Given the description of an element on the screen output the (x, y) to click on. 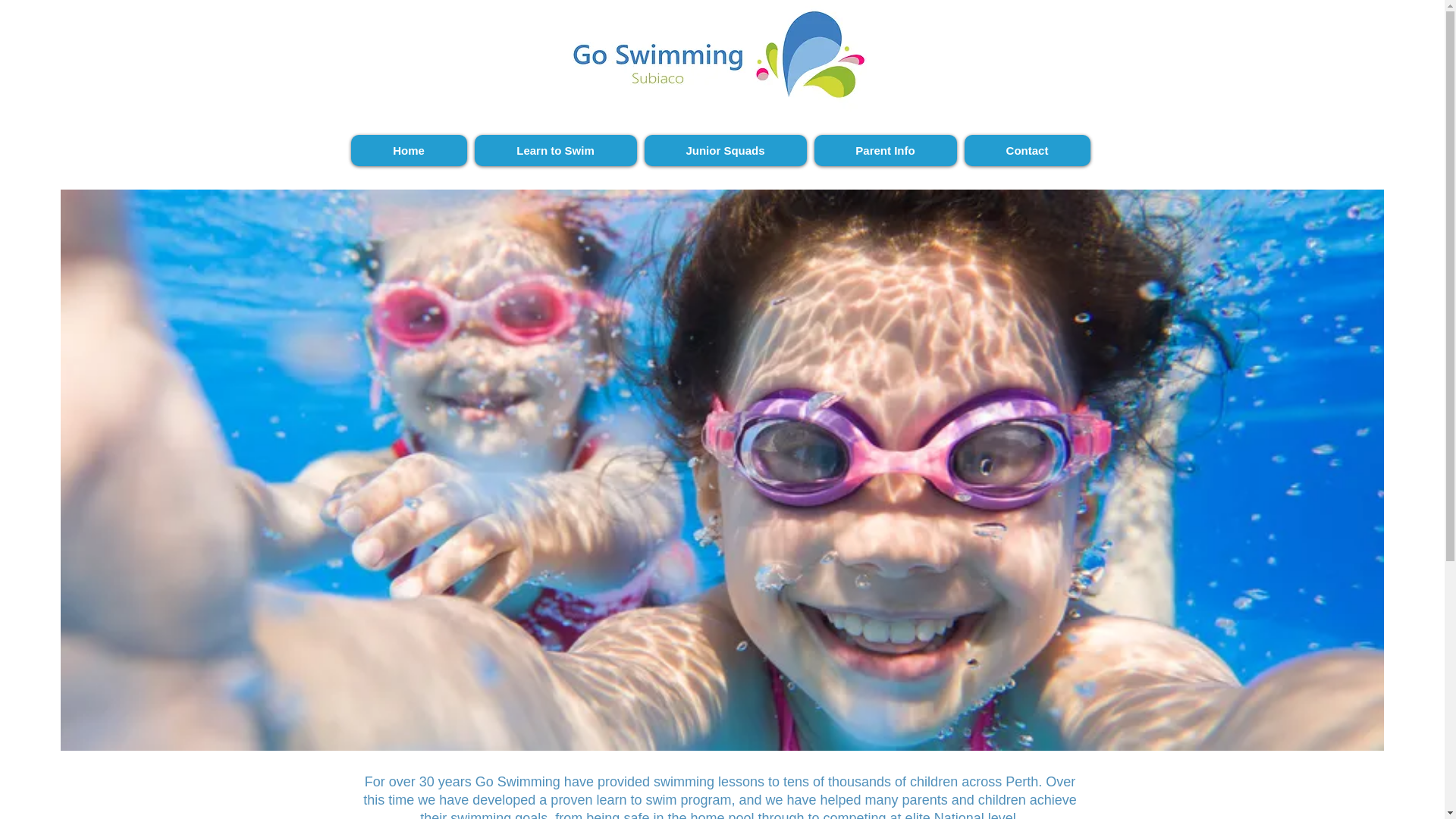
Screen Shot 2015-04-27 at 4.30.31 pm.png Element type: hover (709, 60)
Junior Squads Element type: text (725, 150)
Contact Element type: text (1027, 150)
Parent Info Element type: text (885, 150)
Home Element type: text (408, 150)
Learn to Swim Element type: text (555, 150)
